Given the description of an element on the screen output the (x, y) to click on. 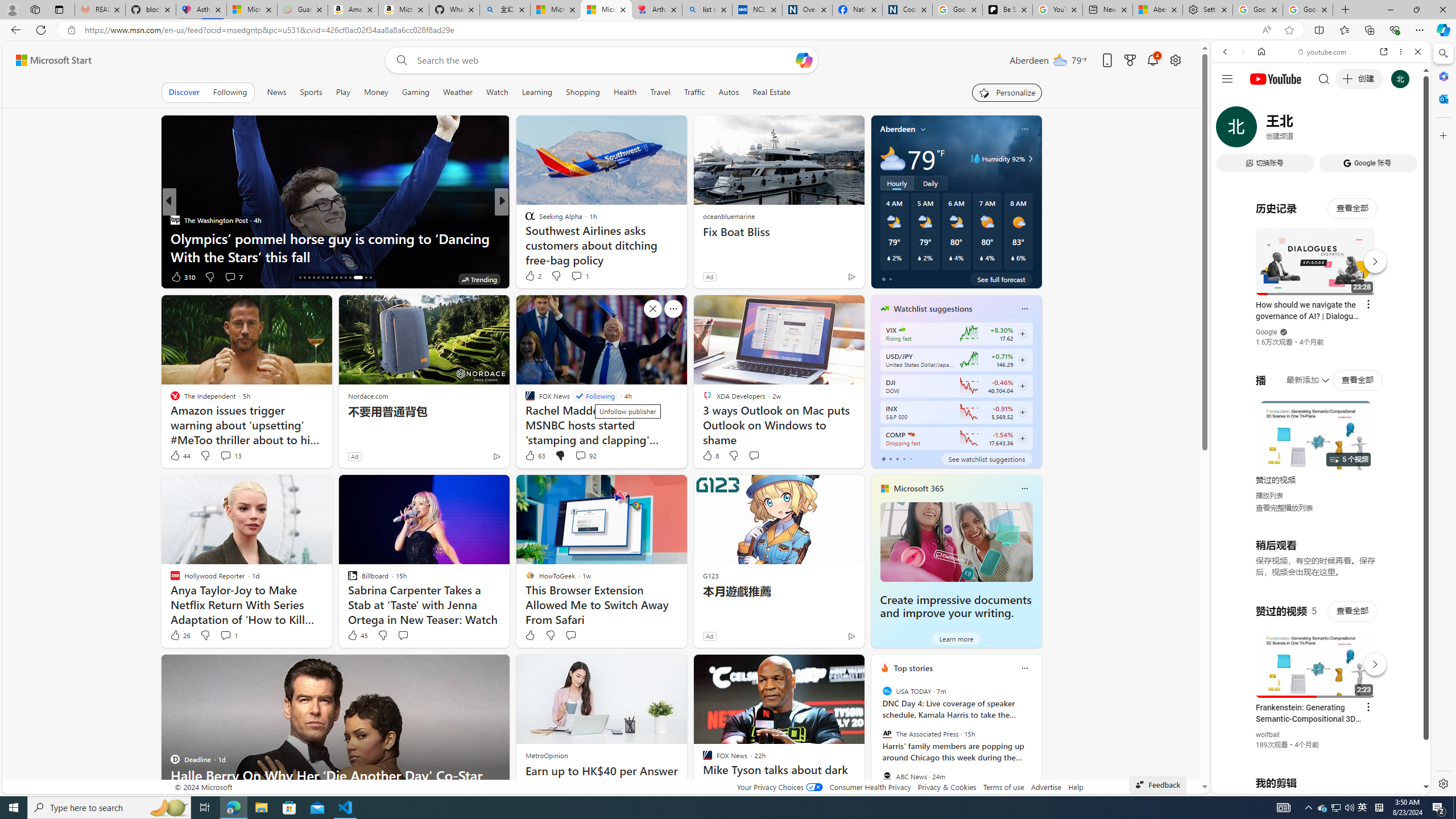
AutomationID: tab-17 (304, 277)
AutomationID: tab-28 (354, 277)
The Associated Press (886, 733)
Actions for this site (1371, 661)
AutomationID: tab-16 (299, 277)
AutomationID: tab-22 (327, 277)
Discover (183, 92)
Travel (660, 92)
Cookies (907, 9)
See watchlist suggestions (986, 459)
#you (1320, 253)
